Given the description of an element on the screen output the (x, y) to click on. 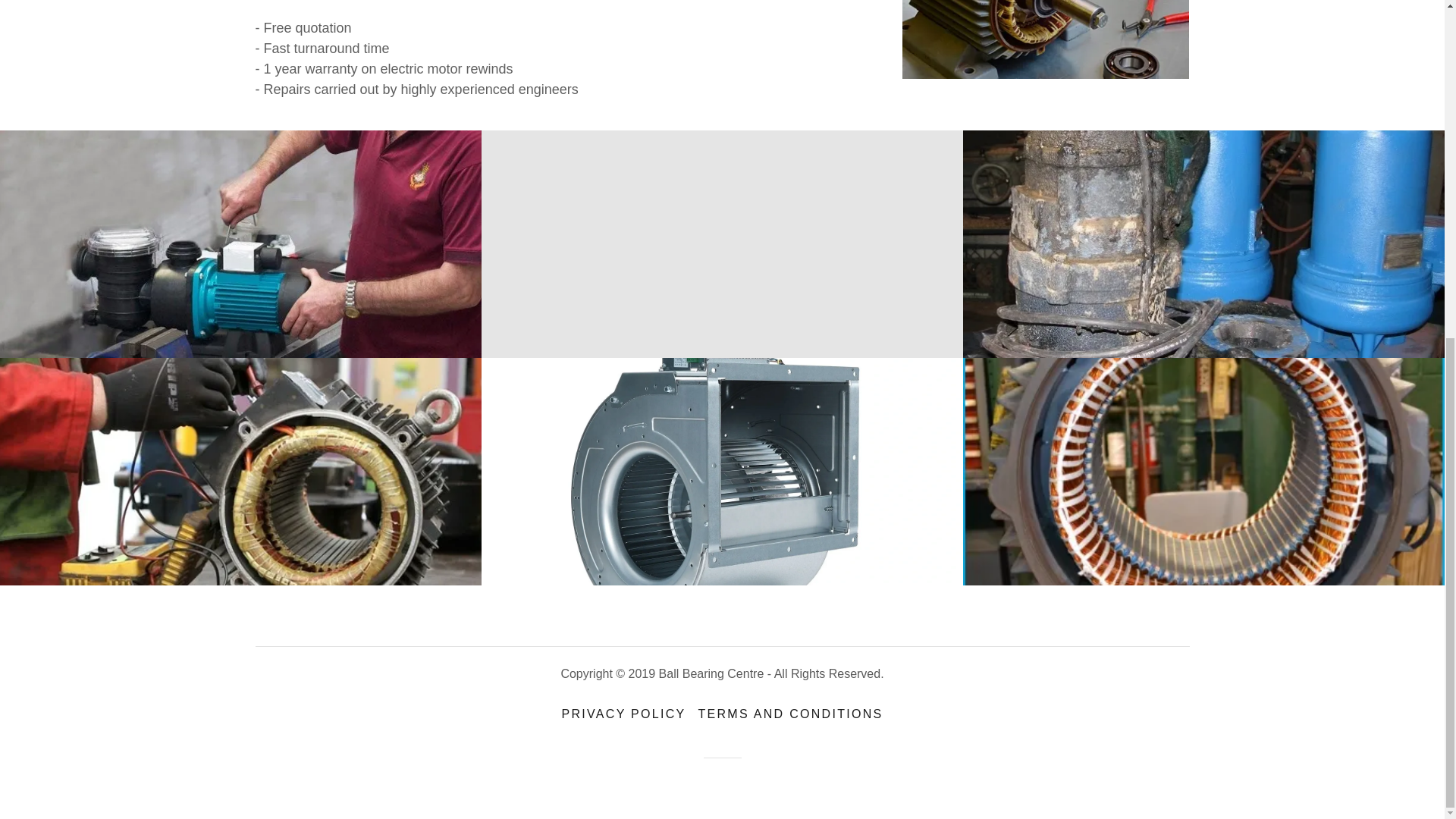
PRIVACY POLICY (624, 714)
TERMS AND CONDITIONS (789, 714)
